Given the description of an element on the screen output the (x, y) to click on. 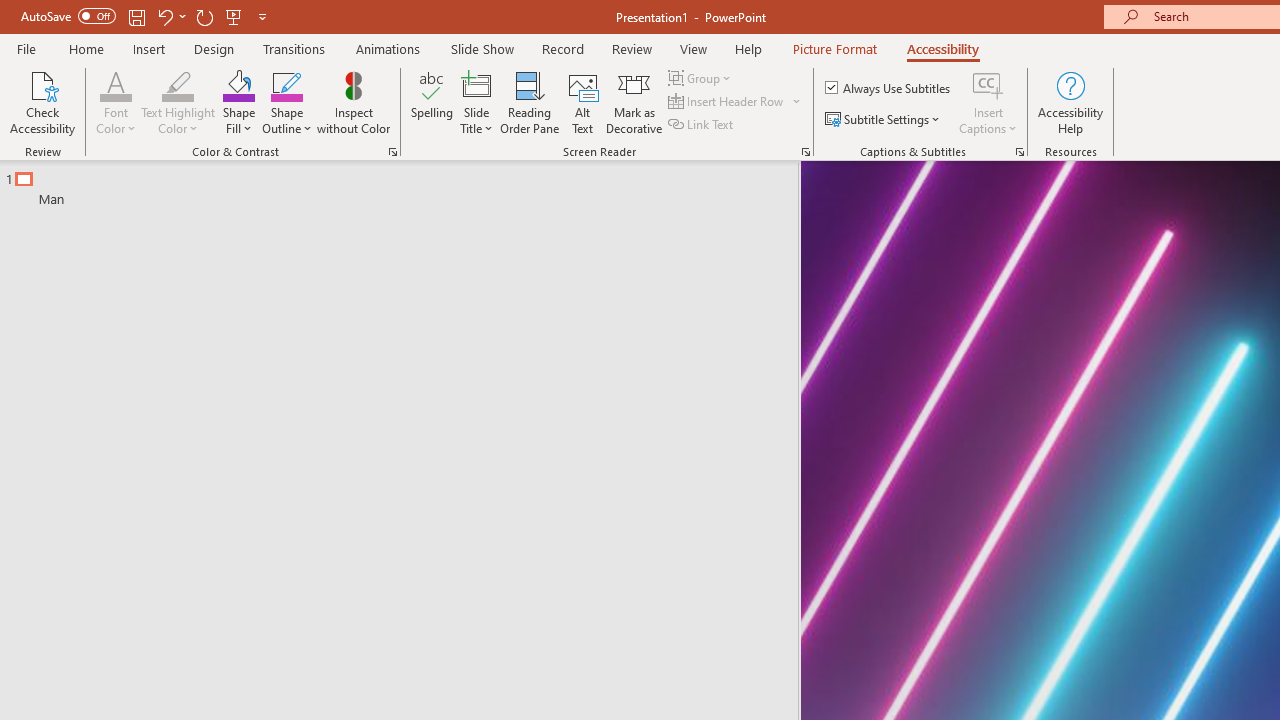
Font Color (116, 84)
Group (701, 78)
Link Text (702, 124)
Insert Header Row (735, 101)
Color & Contrast (392, 151)
Shape Fill (238, 102)
Font Color (116, 102)
Text Highlight Color (178, 102)
Alt Text (582, 102)
